Given the description of an element on the screen output the (x, y) to click on. 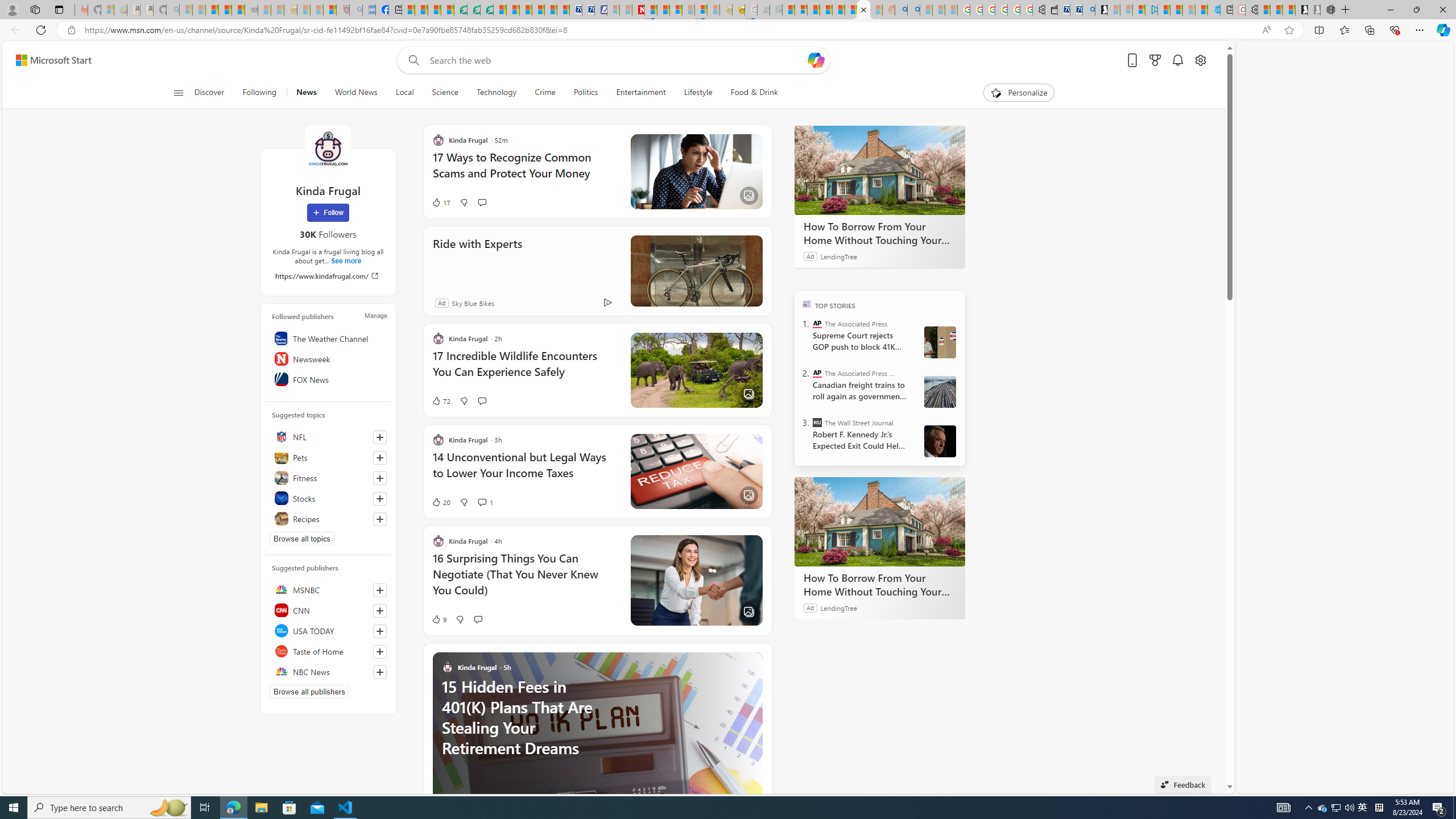
Nordace - Nordace Siena Is Not An Ordinary Backpack (1327, 9)
Ad Choice (606, 302)
News (306, 92)
Home | Sky Blue Bikes - Sky Blue Bikes (1213, 9)
Follow this topic (379, 518)
Lifestyle (697, 92)
The Weather Channel - MSN (212, 9)
